Given the description of an element on the screen output the (x, y) to click on. 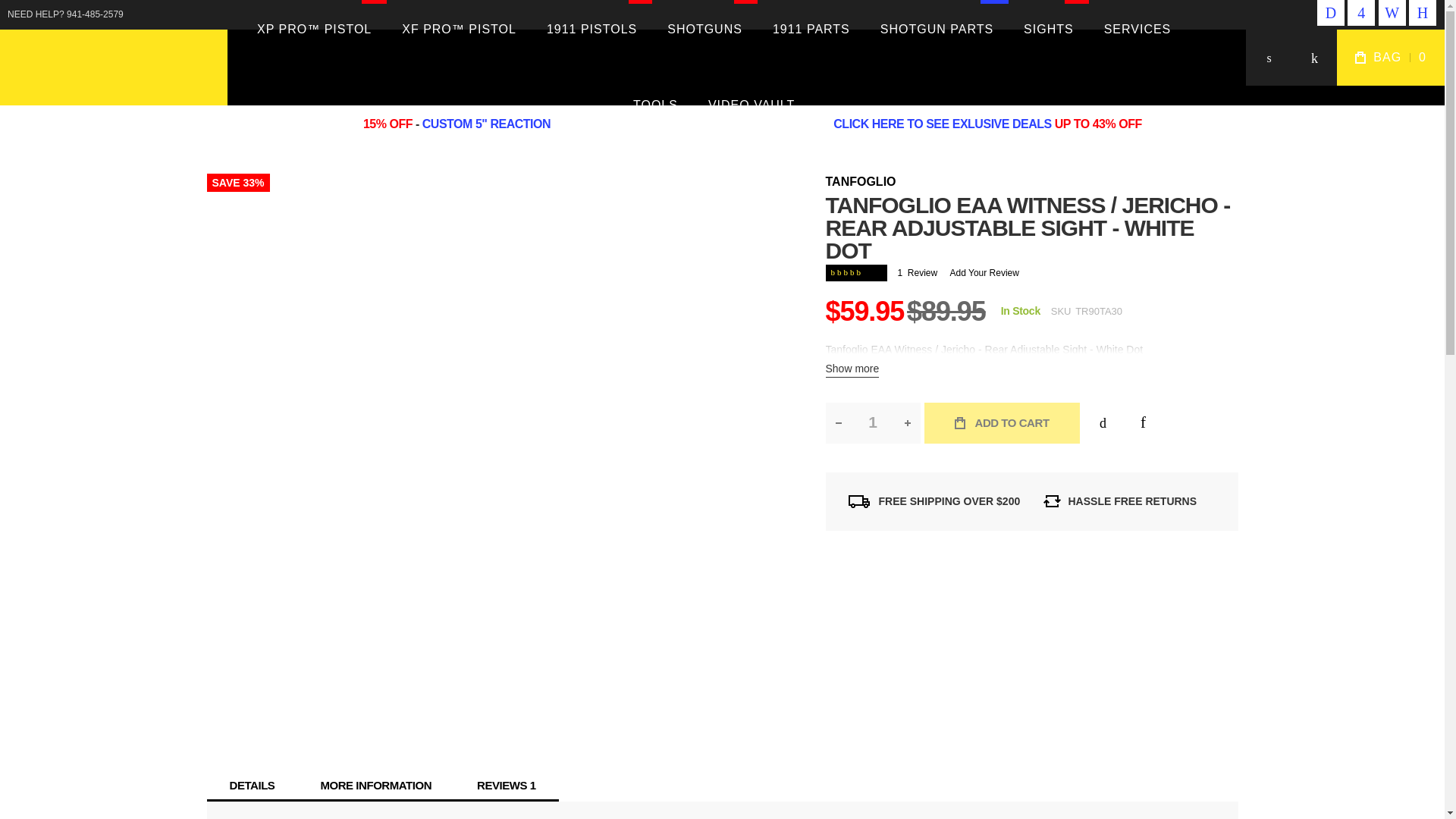
instagram (1330, 12)
facebook (1422, 12)
youtube (1361, 12)
Fusion Firearms Home (113, 66)
1 (591, 33)
pinterest (872, 422)
